Given the description of an element on the screen output the (x, y) to click on. 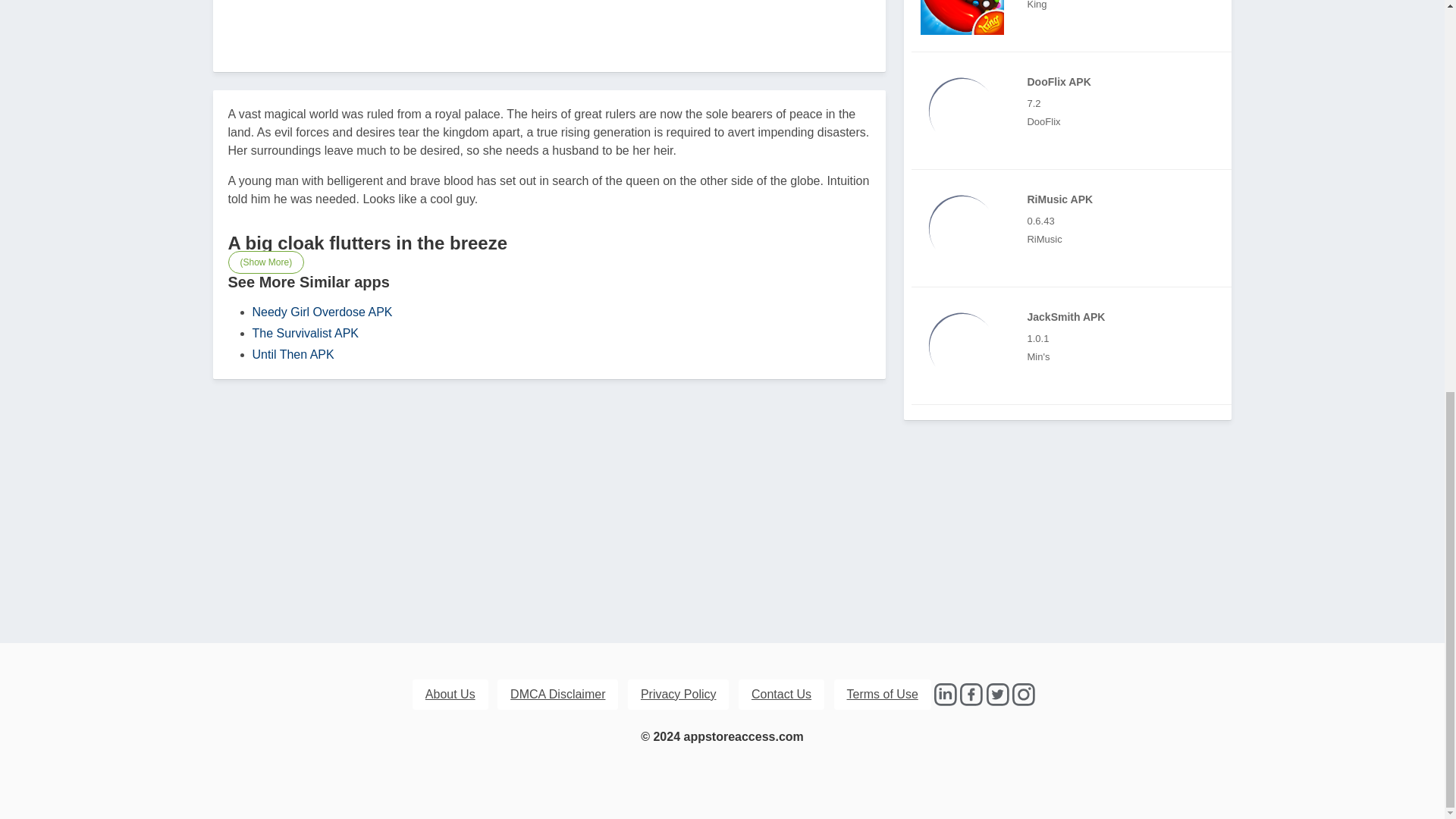
The Survivalist APK (304, 332)
Until Then APK (292, 354)
Advertisement (548, 20)
Needy Girl Overdose APK (321, 311)
